Given the description of an element on the screen output the (x, y) to click on. 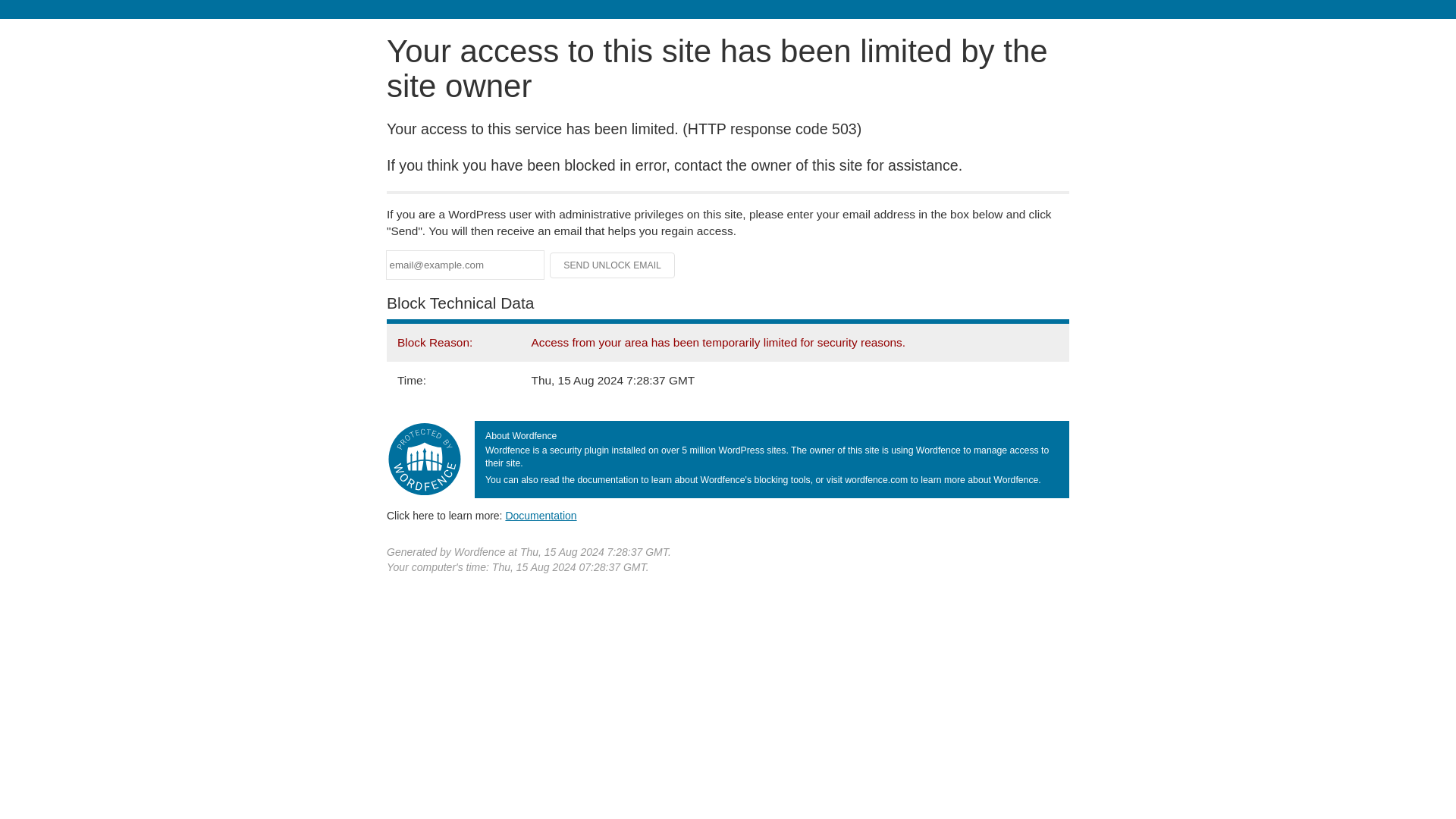
Documentation (540, 515)
Send Unlock Email (612, 265)
Send Unlock Email (612, 265)
